Given the description of an element on the screen output the (x, y) to click on. 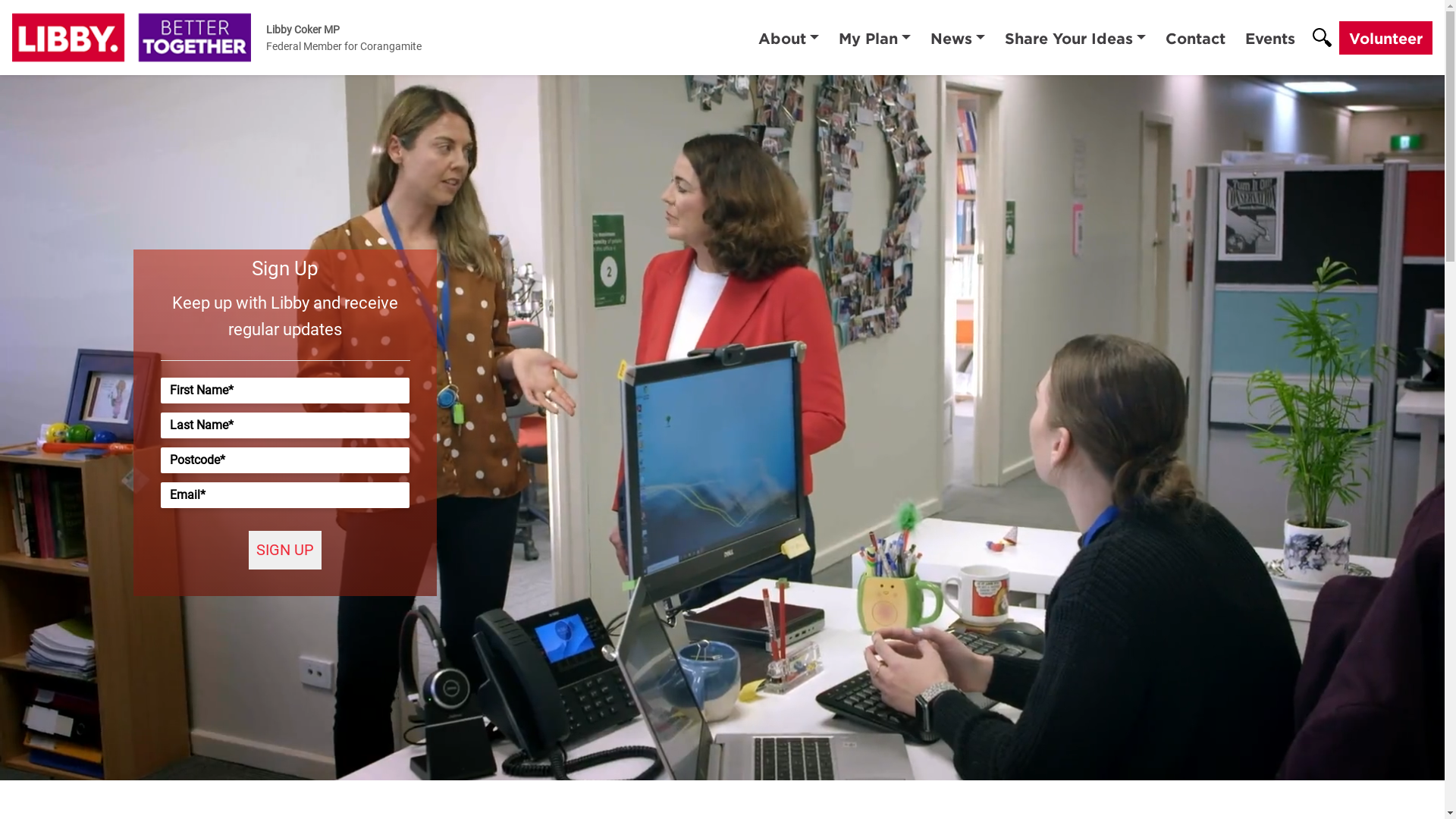
Share Your Ideas Element type: text (1074, 37)
Events Element type: text (1270, 37)
My Plan Element type: text (874, 37)
Volunteer Element type: text (1385, 37)
Contact Element type: text (1195, 37)
SIGN UP Element type: text (284, 549)
About Element type: text (788, 37)
News Element type: text (957, 37)
